Given the description of an element on the screen output the (x, y) to click on. 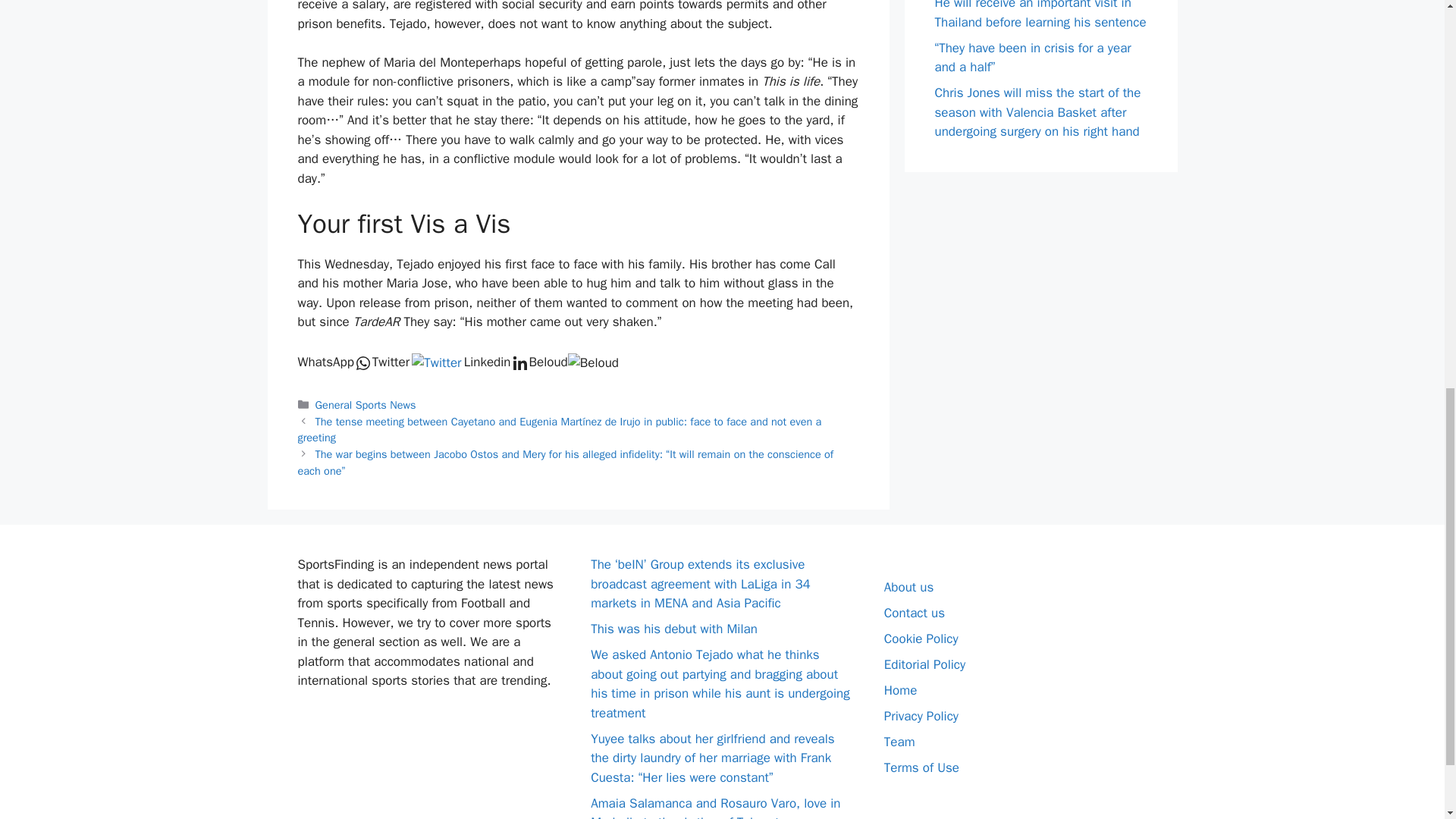
General Sports News (365, 404)
Contact us (913, 612)
Editorial Policy (924, 664)
Cookie Policy (920, 638)
Scroll back to top (1406, 720)
About us (908, 587)
